Given the description of an element on the screen output the (x, y) to click on. 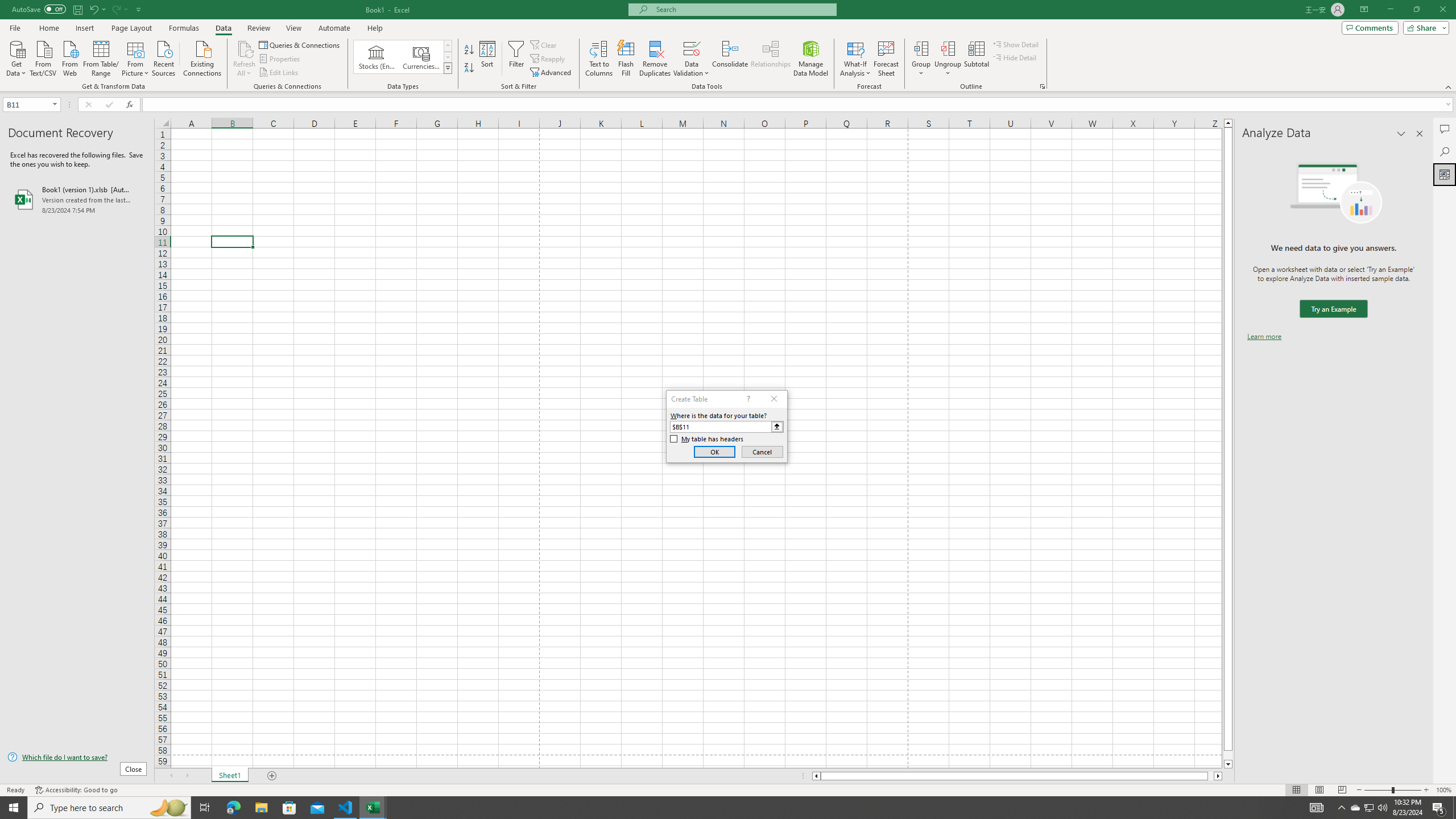
Show Detail (1016, 44)
What-If Analysis (855, 58)
Hide Detail (1014, 56)
Flash Fill (625, 58)
